Given the description of an element on the screen output the (x, y) to click on. 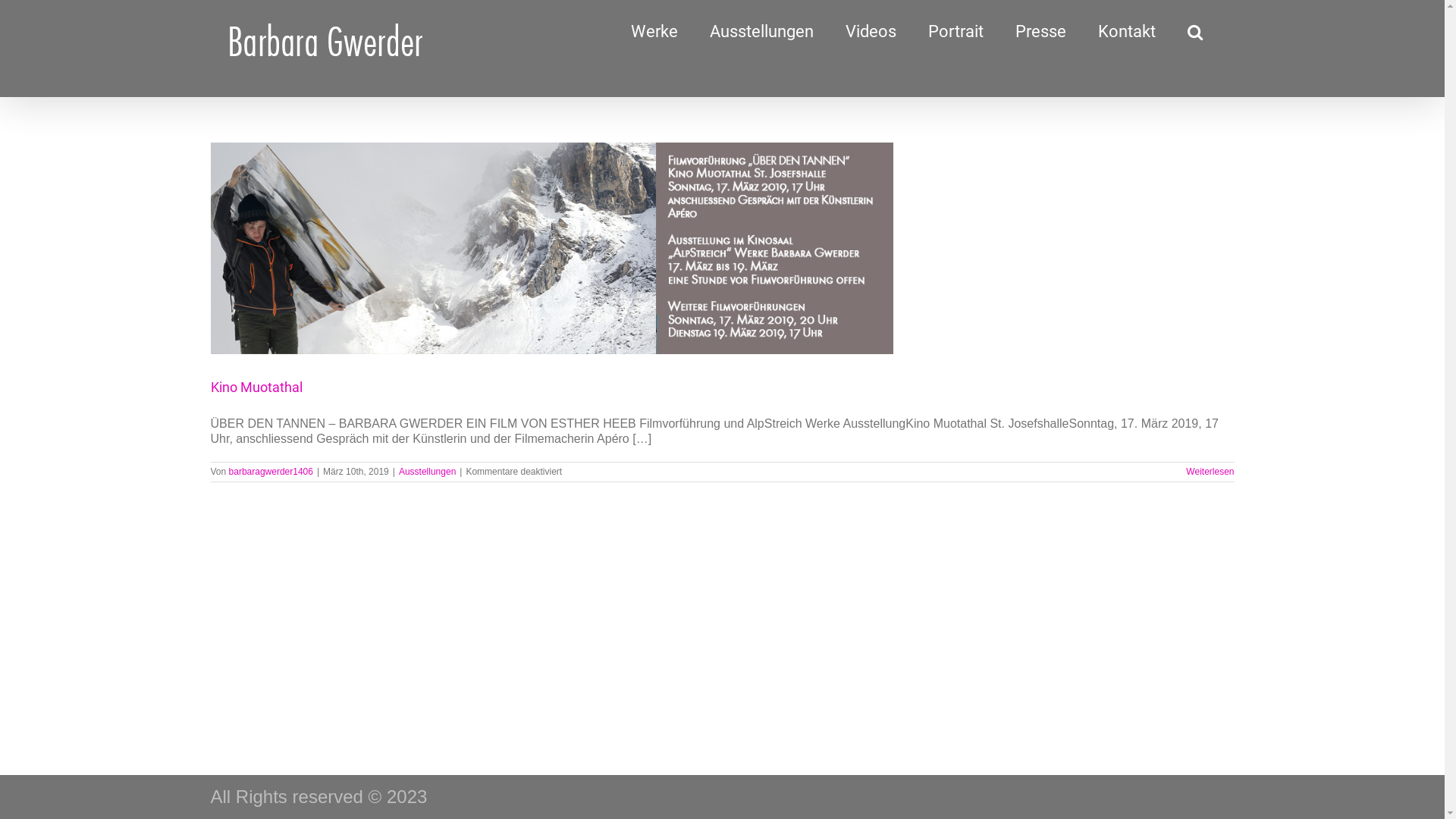
Kontakt Element type: text (1126, 27)
Ausstellungen Element type: text (761, 27)
Portrait Element type: text (955, 27)
Presse Element type: text (1039, 27)
Werke Element type: text (653, 27)
Videos Element type: text (869, 27)
Weiterlesen Element type: text (1209, 471)
Suche Element type: hover (1194, 27)
Ausstellungen Element type: text (426, 471)
barbaragwerder1406 Element type: text (271, 471)
Kino Muotathal Element type: text (256, 387)
